Given the description of an element on the screen output the (x, y) to click on. 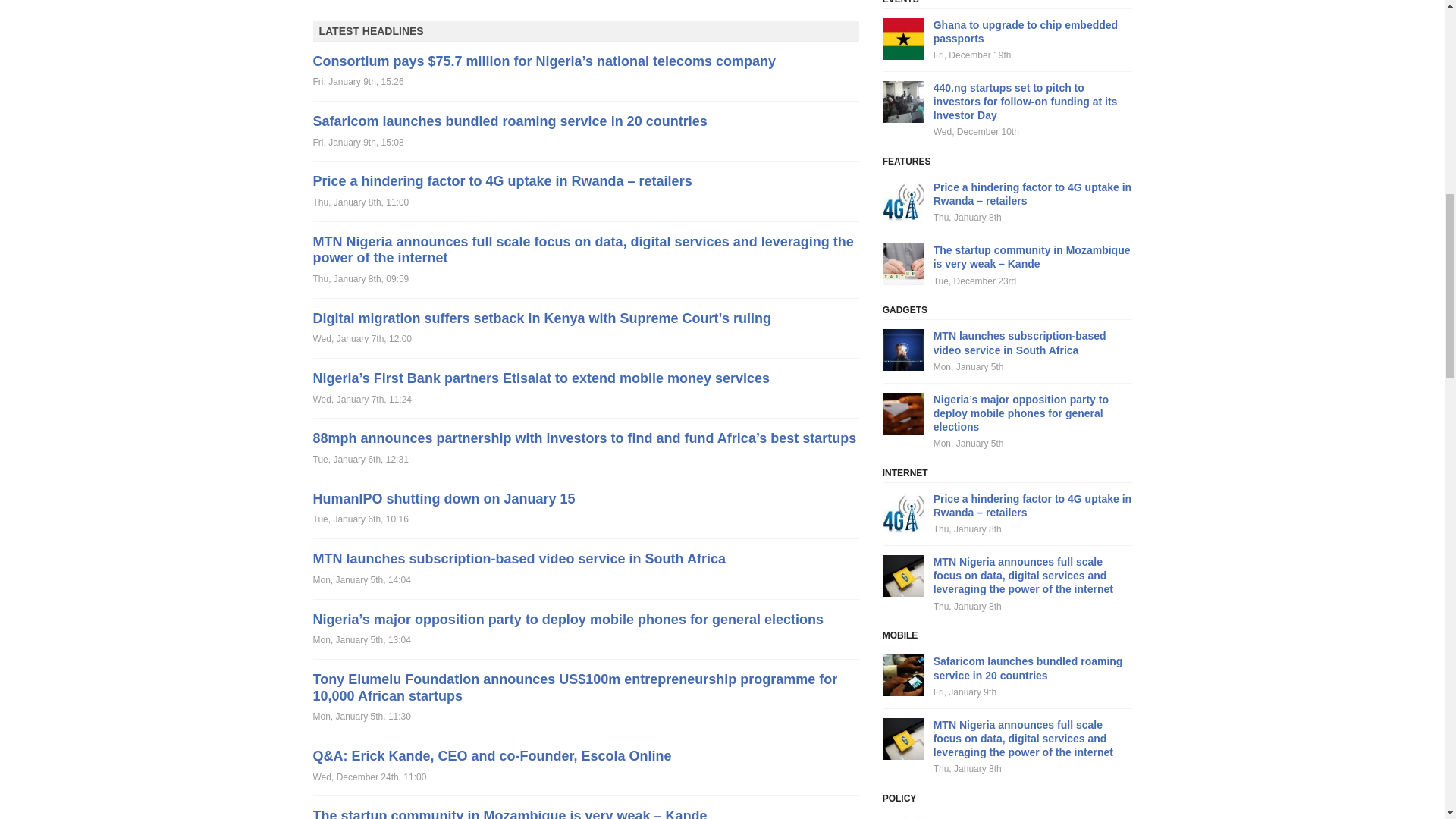
Safaricom launches bundled roaming service in 20 countries (509, 120)
HumanIPO shutting down on January 15 (444, 498)
